Given the description of an element on the screen output the (x, y) to click on. 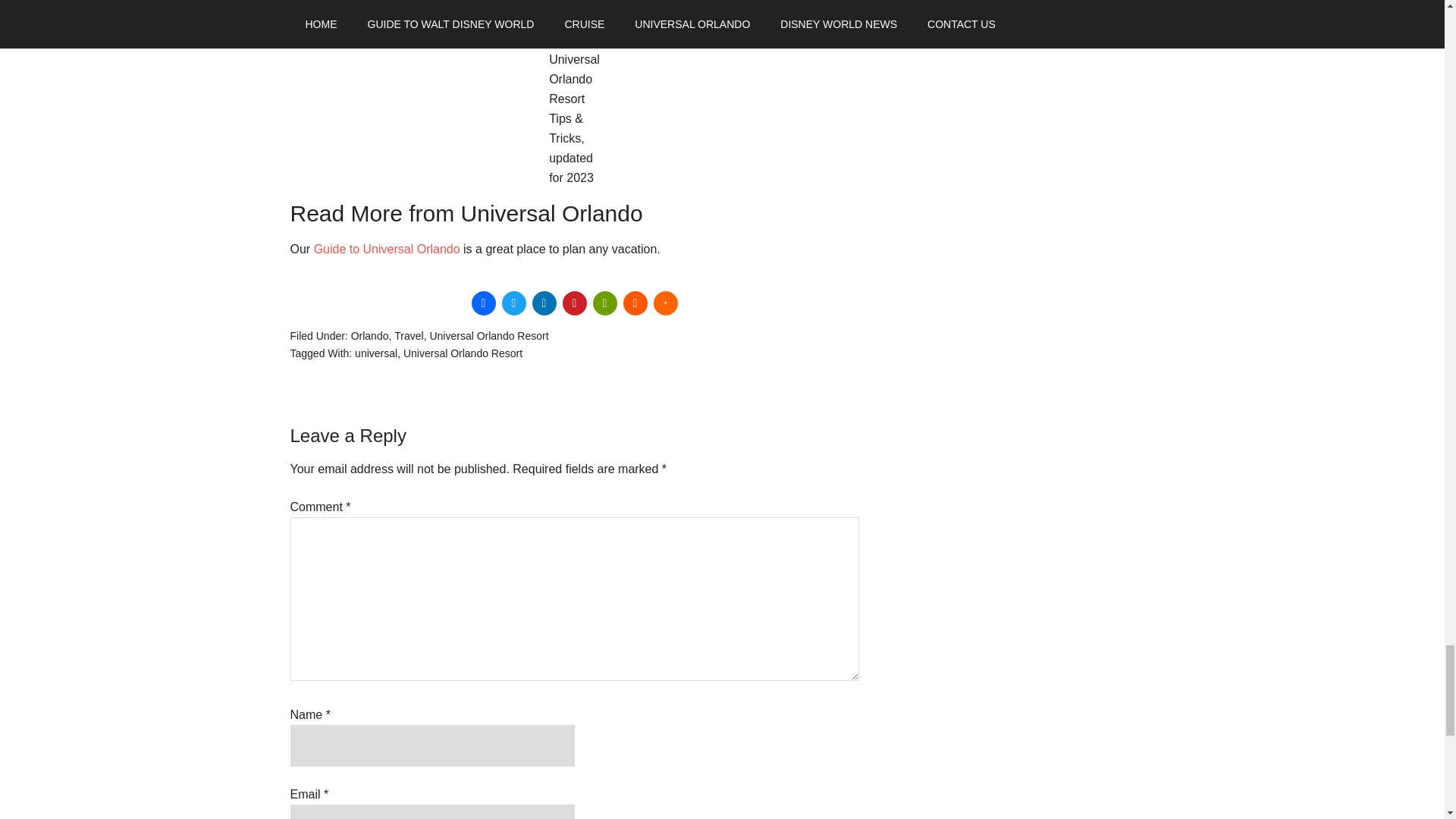
Submit this to Pinterest (574, 303)
Share this on Facebook (483, 303)
Print this article  (604, 303)
Submit this to Reddit (635, 303)
Tweet this ! (513, 303)
Add this to LinkedIn (544, 303)
